Given the description of an element on the screen output the (x, y) to click on. 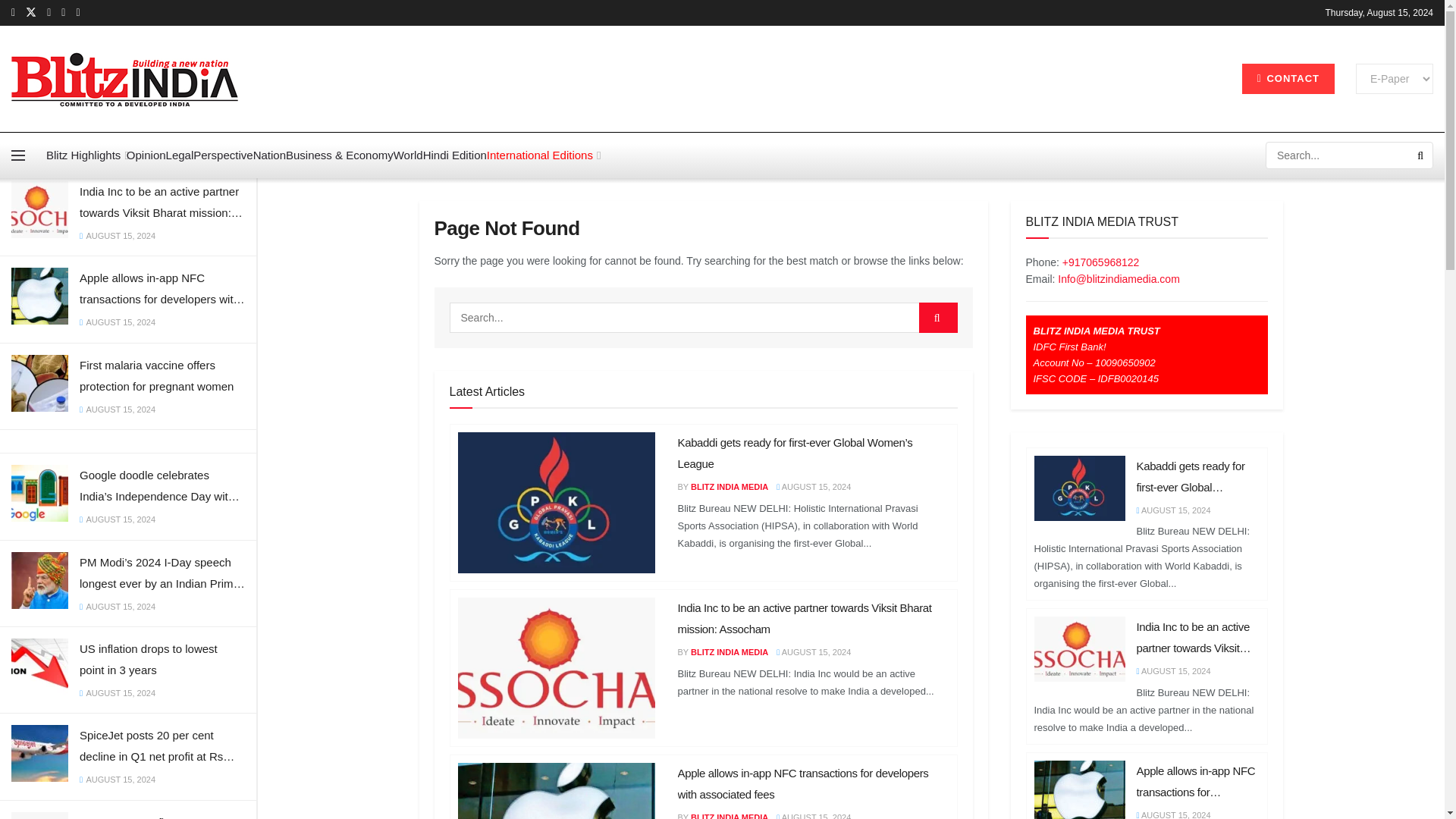
Blitz Highlights (86, 155)
US inflation drops to lowest point in 3 years (162, 659)
HAL Q1 net profit surges 77 per cent to Rs 1,437 crore (162, 815)
CONTACT (1288, 78)
First malaria vaccine offers protection for pregnant women (162, 375)
